Given the description of an element on the screen output the (x, y) to click on. 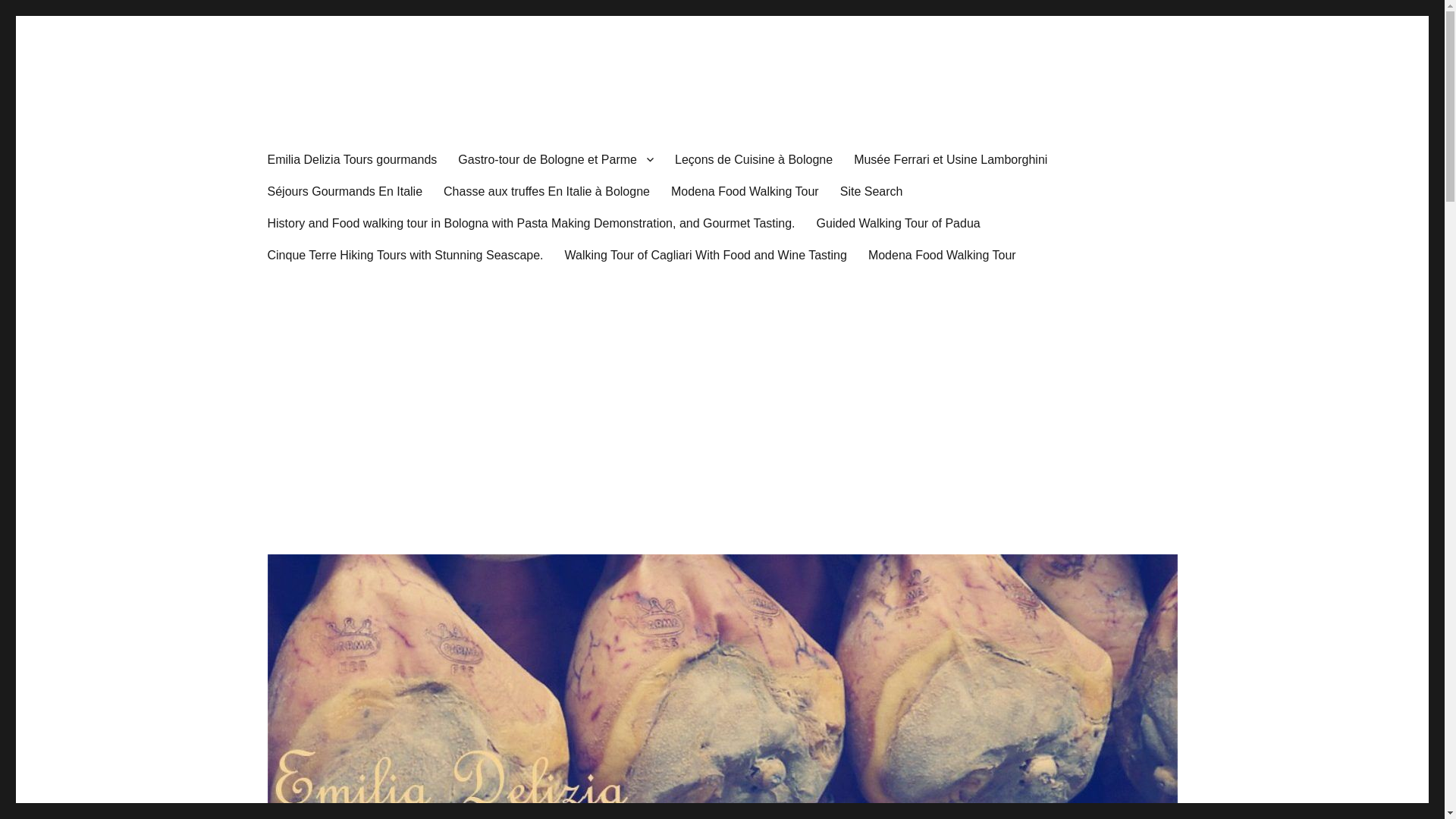
Emilia Delizia (334, 114)
Gastro-tour de Bologne et Parme (554, 159)
Guided Walking Tour of Padua (898, 223)
Modena Food Walking Tour (941, 255)
Modena Food Walking Tour (745, 191)
Emilia Delizia Tours gourmands (351, 159)
Walking Tour of Cagliari With Food and Wine Tasting (705, 255)
Site Search (871, 191)
